Given the description of an element on the screen output the (x, y) to click on. 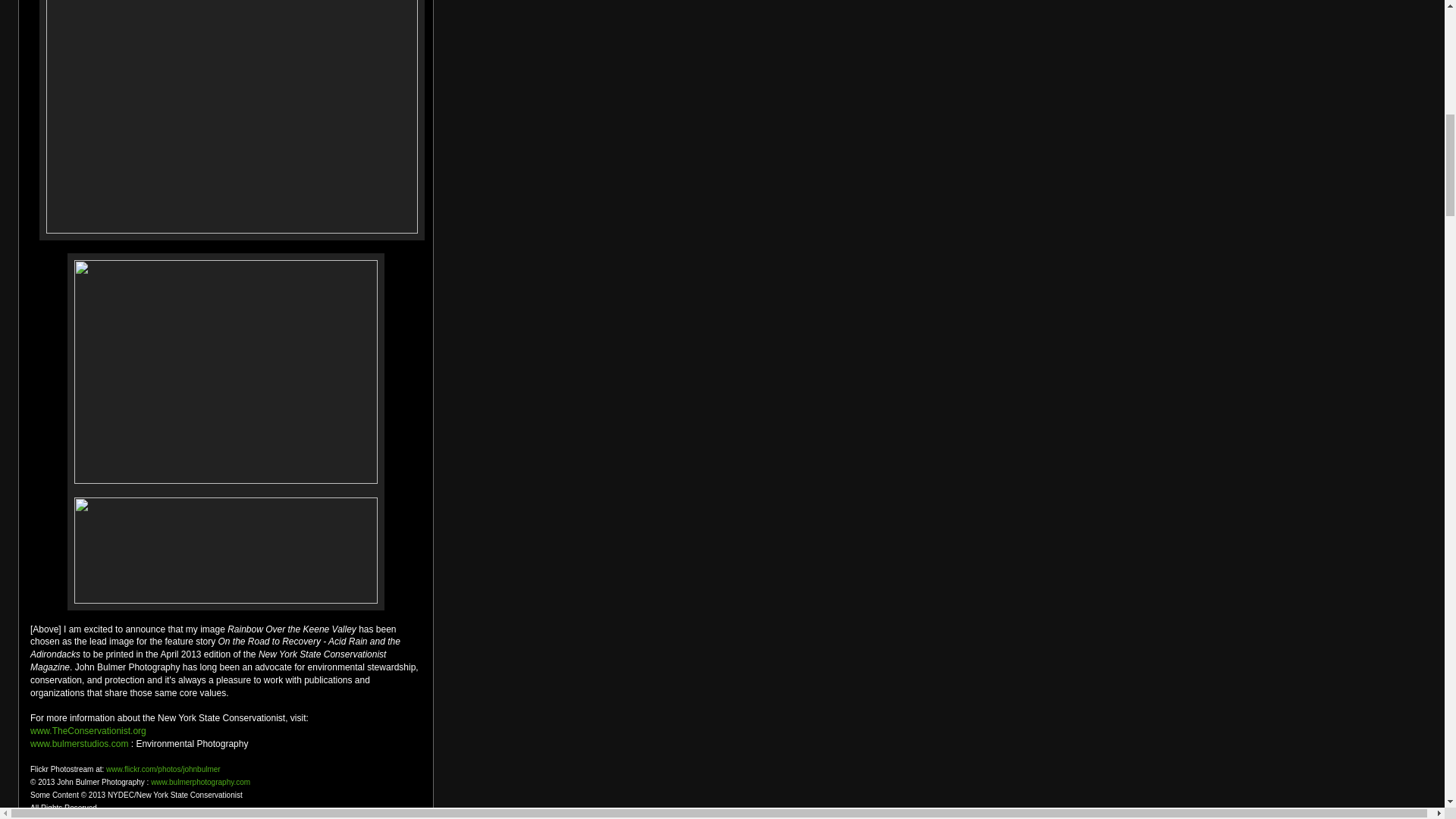
www.bulmerphotography.com (200, 782)
www.TheConservationist.org (88, 730)
www.bulmerstudios.com (79, 743)
